Given the description of an element on the screen output the (x, y) to click on. 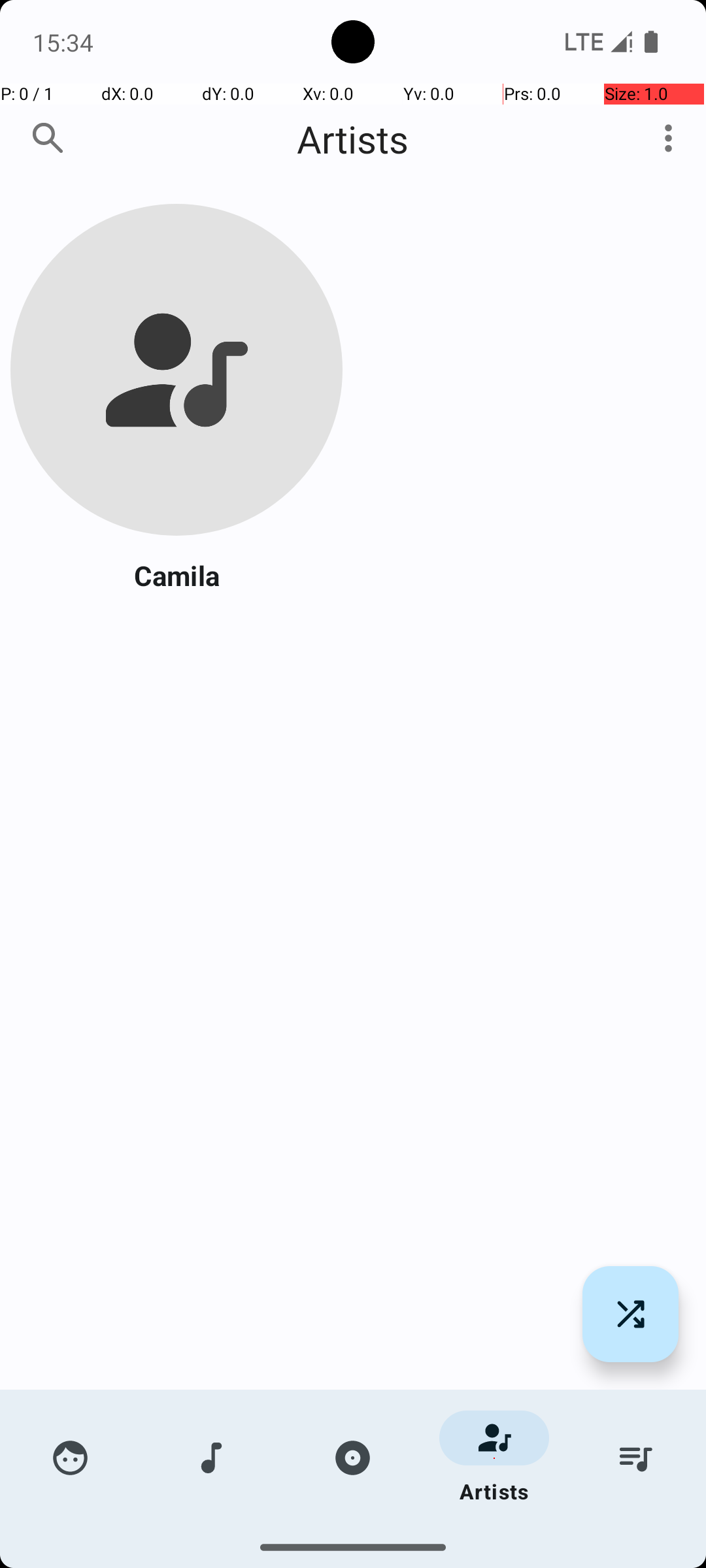
Artists Element type: android.widget.TextView (352, 138)
Shuffle Element type: android.widget.ImageButton (630, 1314)
For you Element type: android.widget.FrameLayout (70, 1457)
Songs Element type: android.widget.FrameLayout (211, 1457)
Albums Element type: android.widget.FrameLayout (352, 1457)
Playlists Element type: android.widget.FrameLayout (635, 1457)
Camila Element type: android.widget.TextView (176, 574)
